Given the description of an element on the screen output the (x, y) to click on. 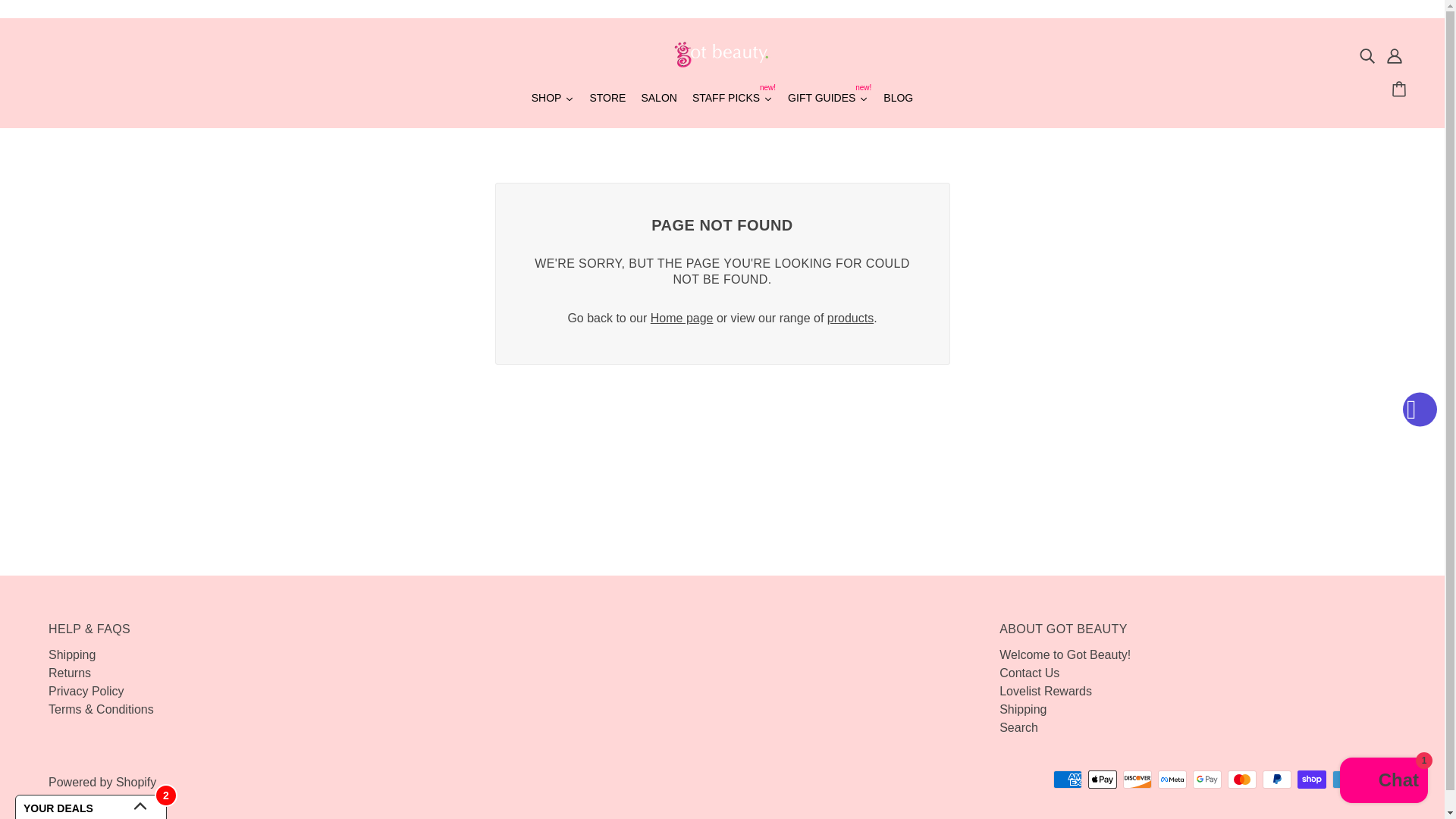
Lovelist Rewards (1045, 690)
Lovelist Rewards (1045, 690)
Privacy Policy (85, 690)
Privacy Policy (732, 99)
products (85, 690)
STORE (850, 318)
Returns (606, 99)
SALON (69, 672)
BLOG (658, 99)
Welcome to Got Beauty! (898, 99)
Home page (1064, 654)
SHOP (828, 99)
Returns (681, 318)
